Given the description of an element on the screen output the (x, y) to click on. 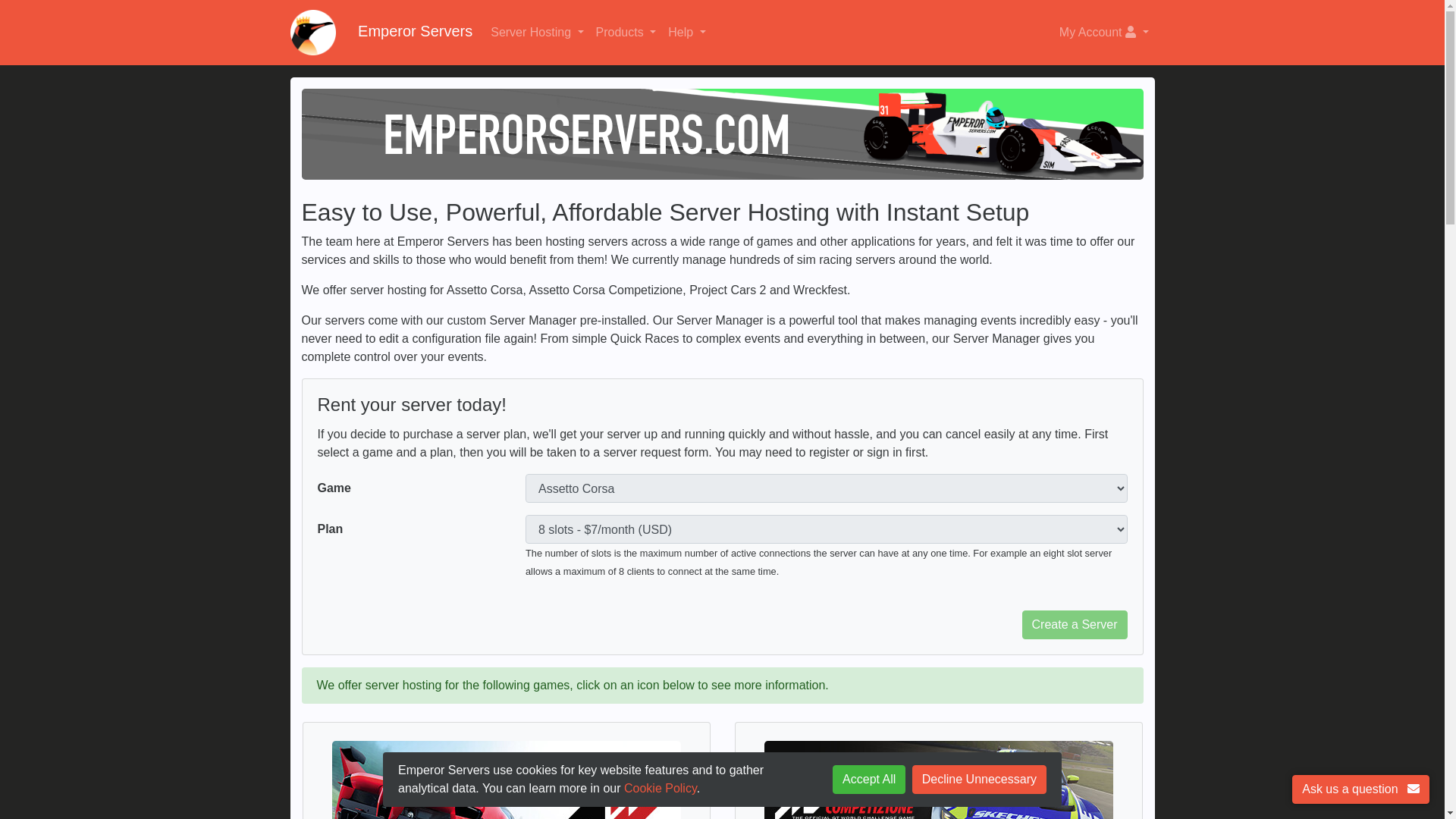
Cookie Policy (660, 788)
Help (686, 32)
Create a Server (1074, 624)
My Account (1103, 32)
Products (625, 32)
Accept All (868, 778)
Server Hosting (536, 32)
Emperor Servers (380, 31)
Decline Unnecessary (979, 778)
Assetto Corsa Competizione (938, 767)
Ask us a question (1360, 788)
Assetto Corsa (505, 767)
